Given the description of an element on the screen output the (x, y) to click on. 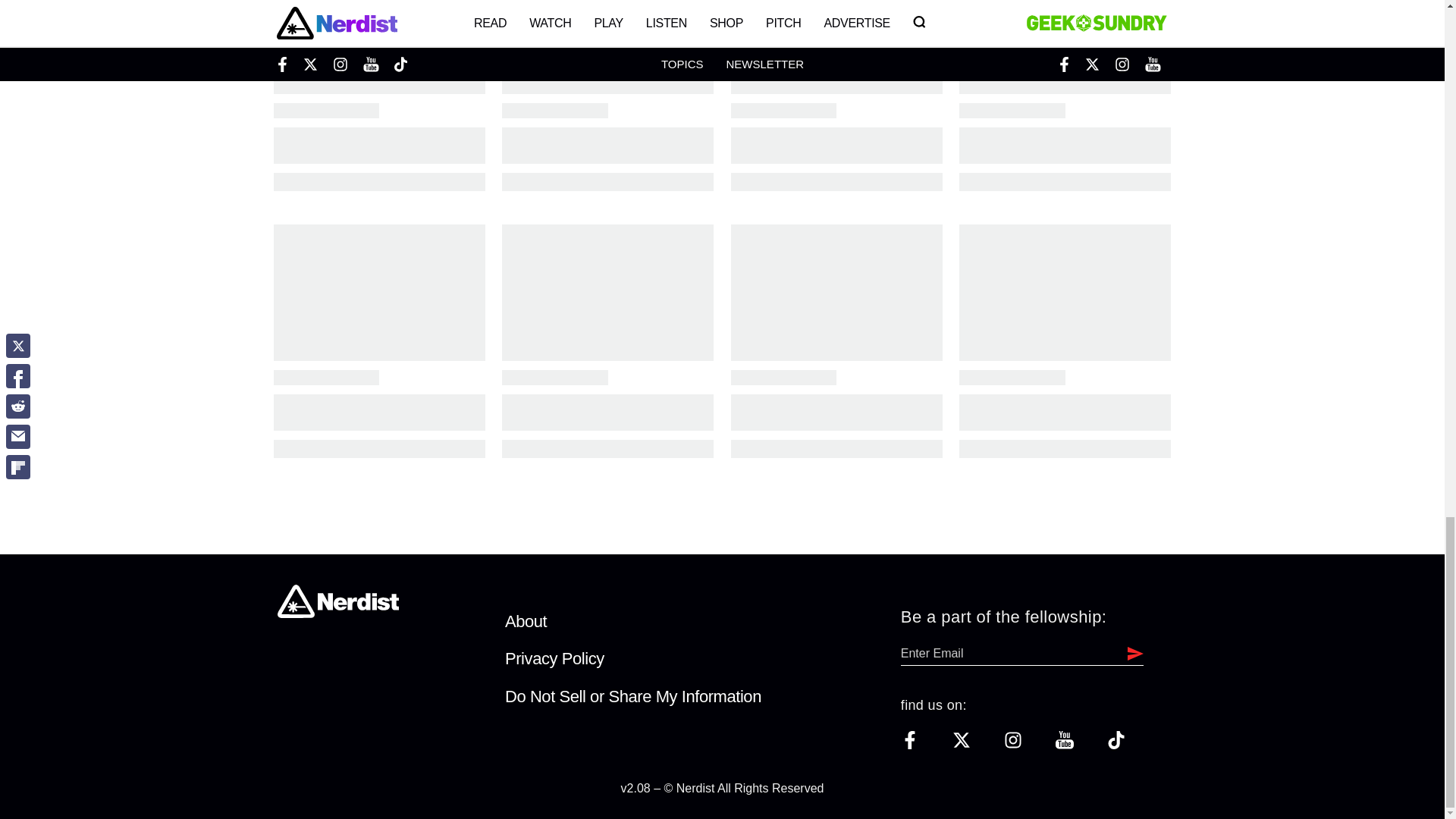
About (526, 620)
Privacy Policy (554, 658)
Sign Up (1131, 653)
Do Not Sell or Share My Information (633, 696)
Sign Up (1131, 653)
